Given the description of an element on the screen output the (x, y) to click on. 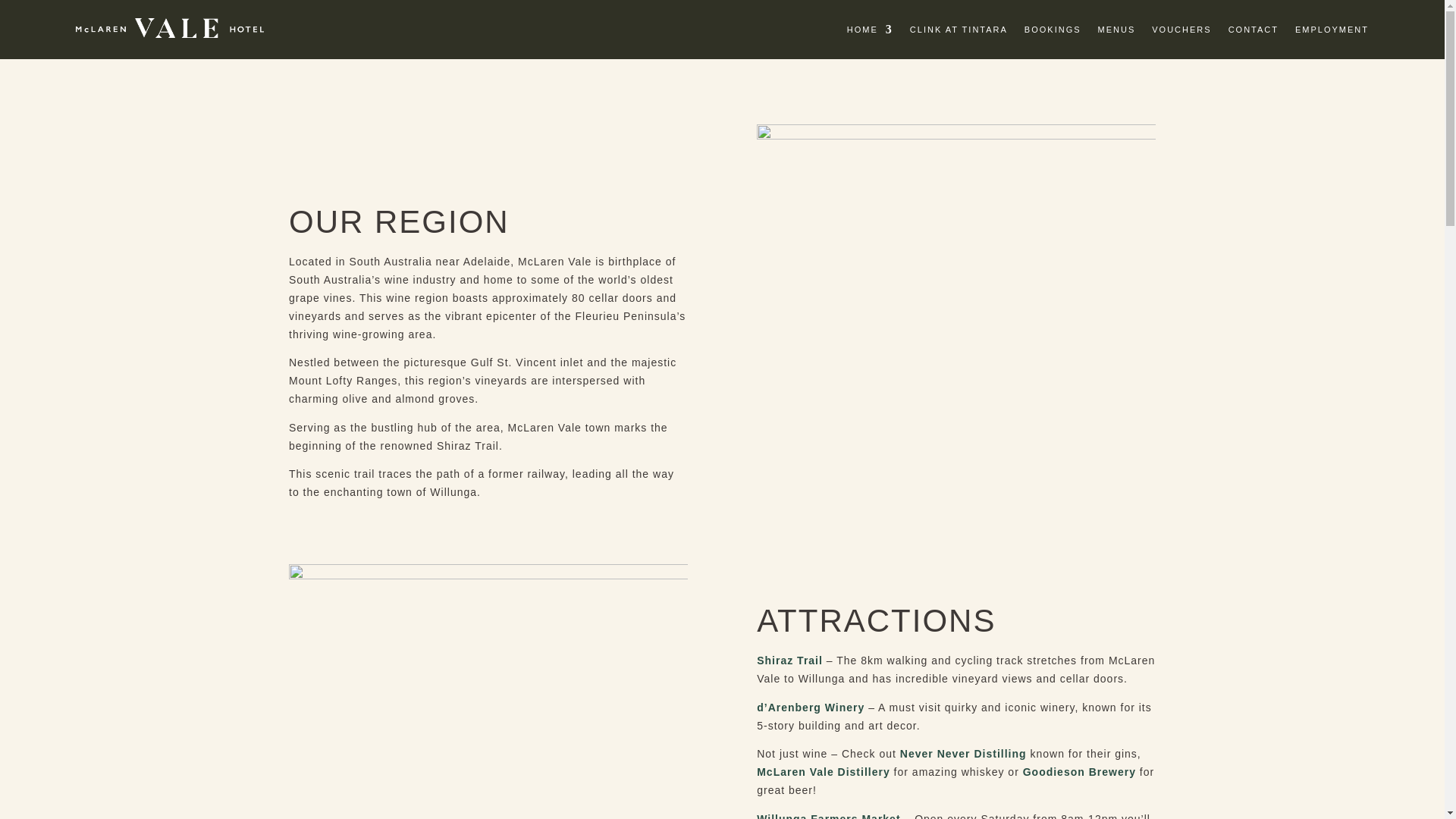
EMPLOYMENT (1331, 32)
McLaren Vale Distillery (823, 771)
BOOKINGS (1053, 32)
Never Never Distilling (962, 753)
Goodieson Brewery (1079, 771)
MENUS (1116, 32)
VOUCHERS (1181, 32)
Shiraz Trail (789, 660)
Willunga Farmers Market (828, 816)
dd (487, 691)
